Given the description of an element on the screen output the (x, y) to click on. 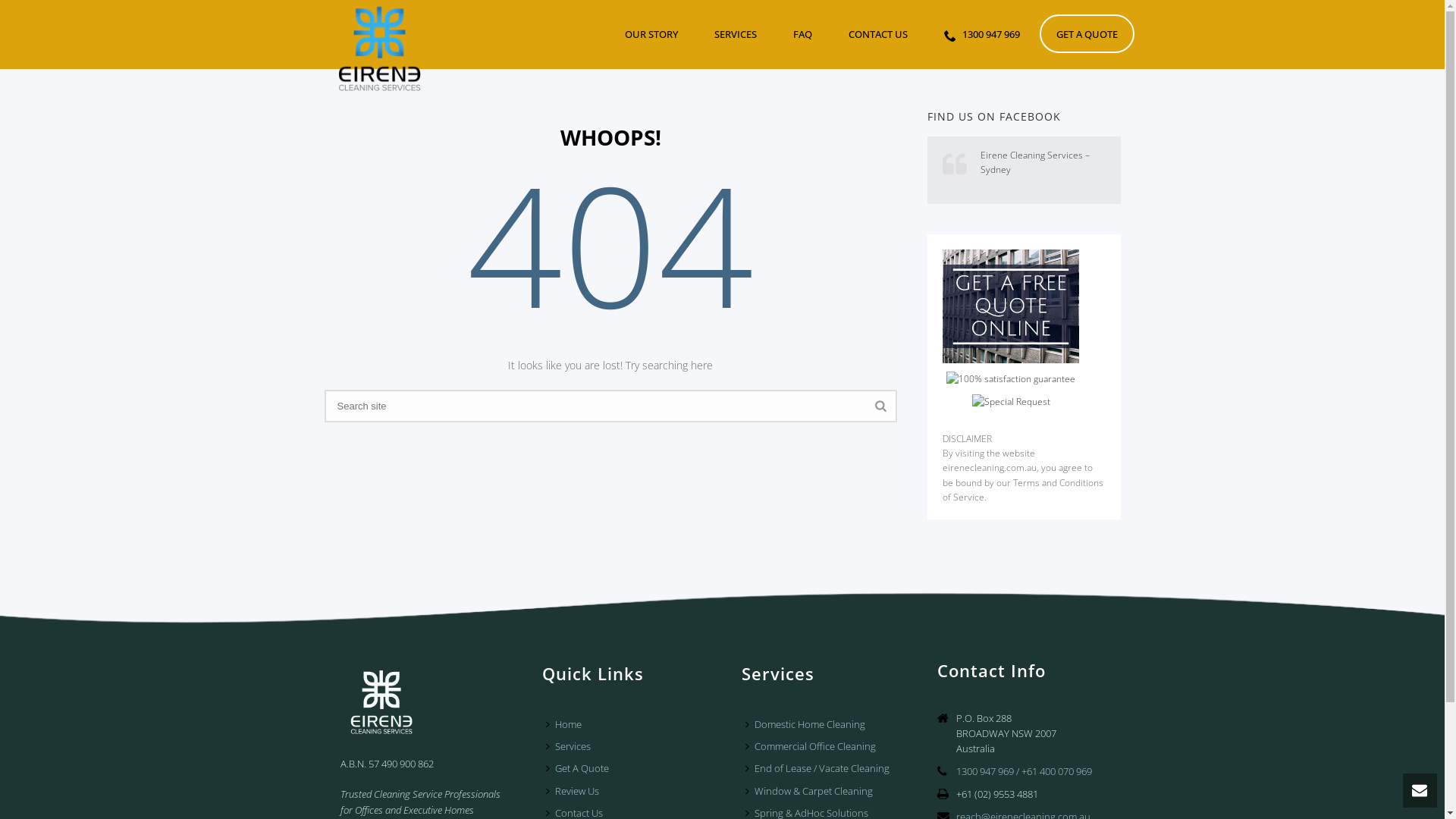
1300 947 969 / +61 400 070 969 Element type: text (1024, 771)
Get A Quote Element type: text (581, 768)
100% satisfaction guarantee Element type: hover (1010, 378)
Home Element type: text (567, 724)
Window & Carpet Cleaning Element type: text (812, 791)
Get A Quote Element type: hover (1010, 306)
SERVICES Element type: text (735, 33)
1300 947 969 Element type: text (980, 33)
FAQ Element type: text (802, 33)
GET A QUOTE Element type: text (1085, 33)
CONTACT US Element type: text (877, 33)
Commercial Office Cleaning Element type: text (814, 746)
OUR STORY Element type: text (651, 33)
End of Lease / Vacate Cleaning Element type: text (820, 768)
Special Request Element type: hover (1011, 401)
Services Element type: text (572, 746)
Review Us Element type: text (576, 791)
Domestic Home Cleaning Element type: text (808, 724)
